Given the description of an element on the screen output the (x, y) to click on. 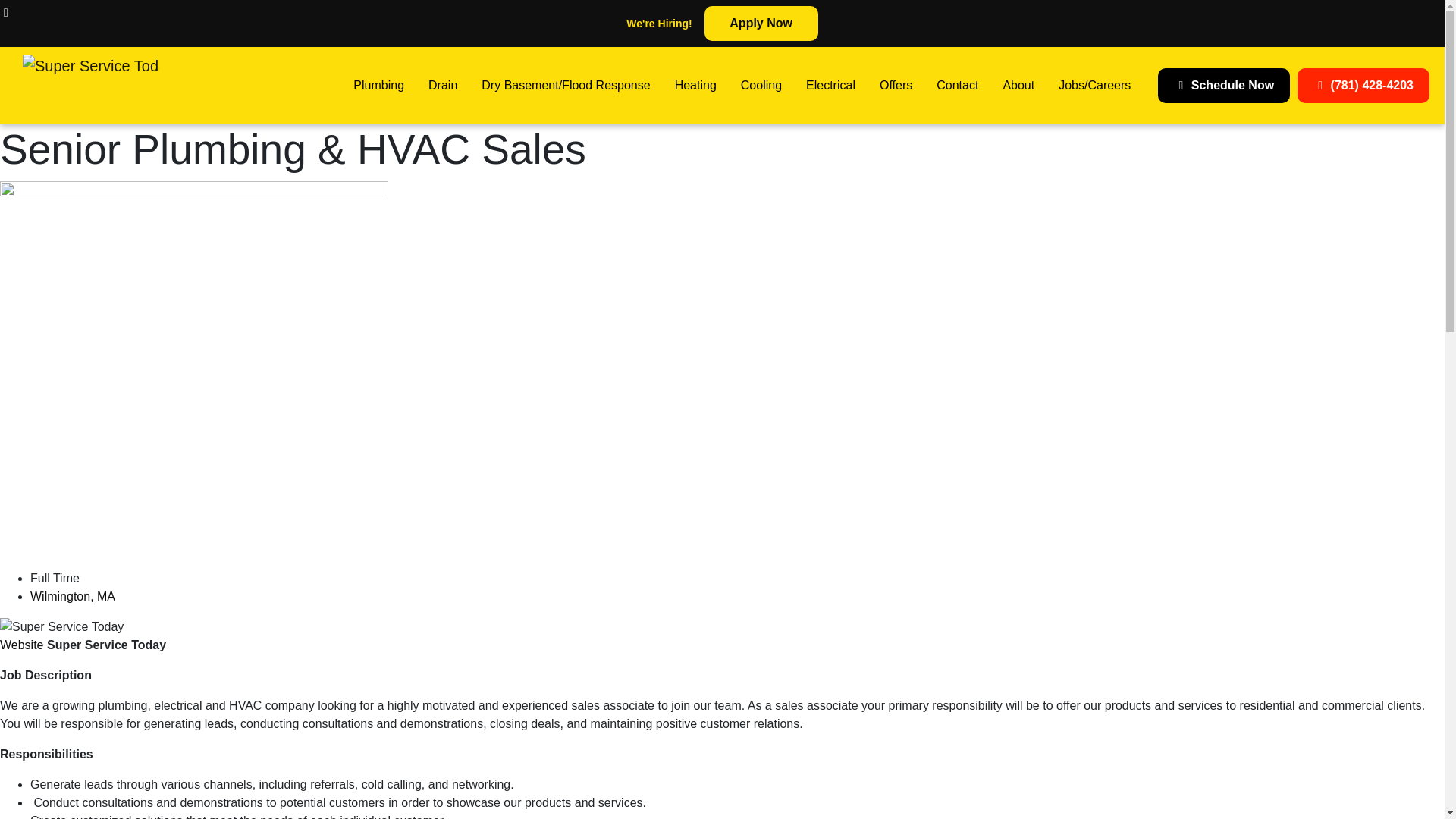
Apply Now (761, 22)
Drain (442, 85)
Plumbing (378, 85)
Plumbing (378, 85)
